Given the description of an element on the screen output the (x, y) to click on. 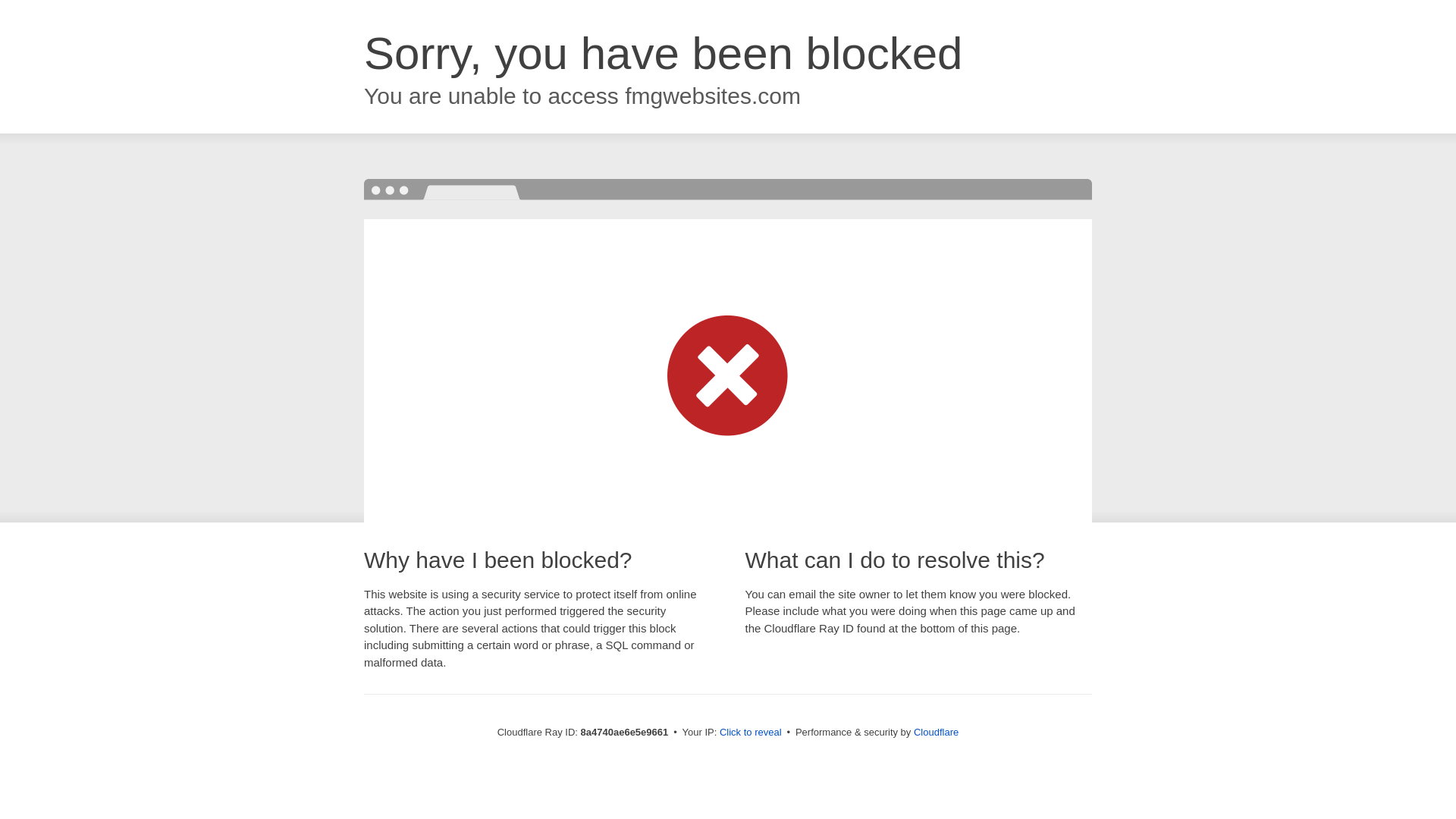
Click to reveal (750, 732)
Cloudflare (936, 731)
